Given the description of an element on the screen output the (x, y) to click on. 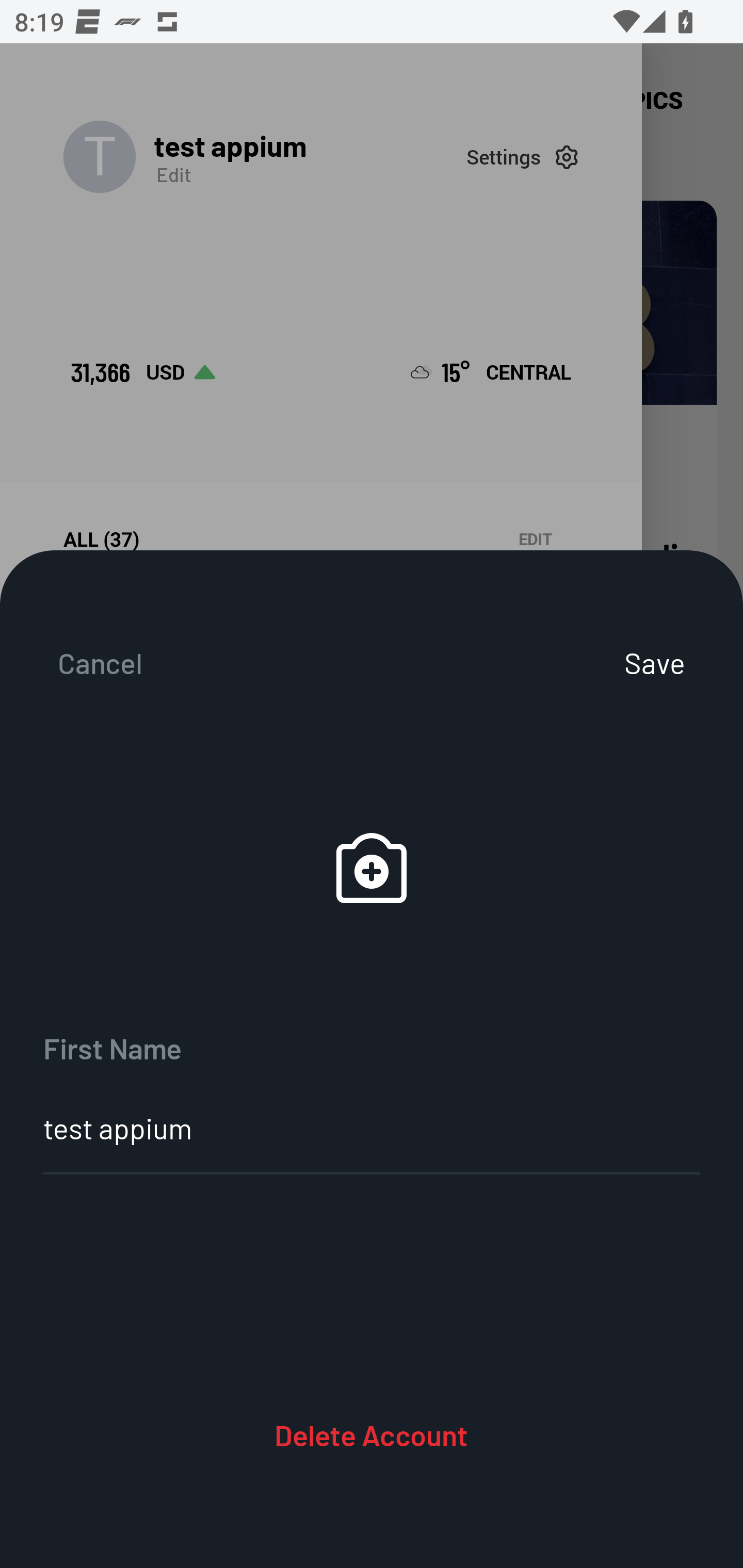
Cancel (78, 662)
Save (676, 662)
Profile Picture (371, 868)
test appium (371, 1128)
Delete Account (371, 1433)
